Given the description of an element on the screen output the (x, y) to click on. 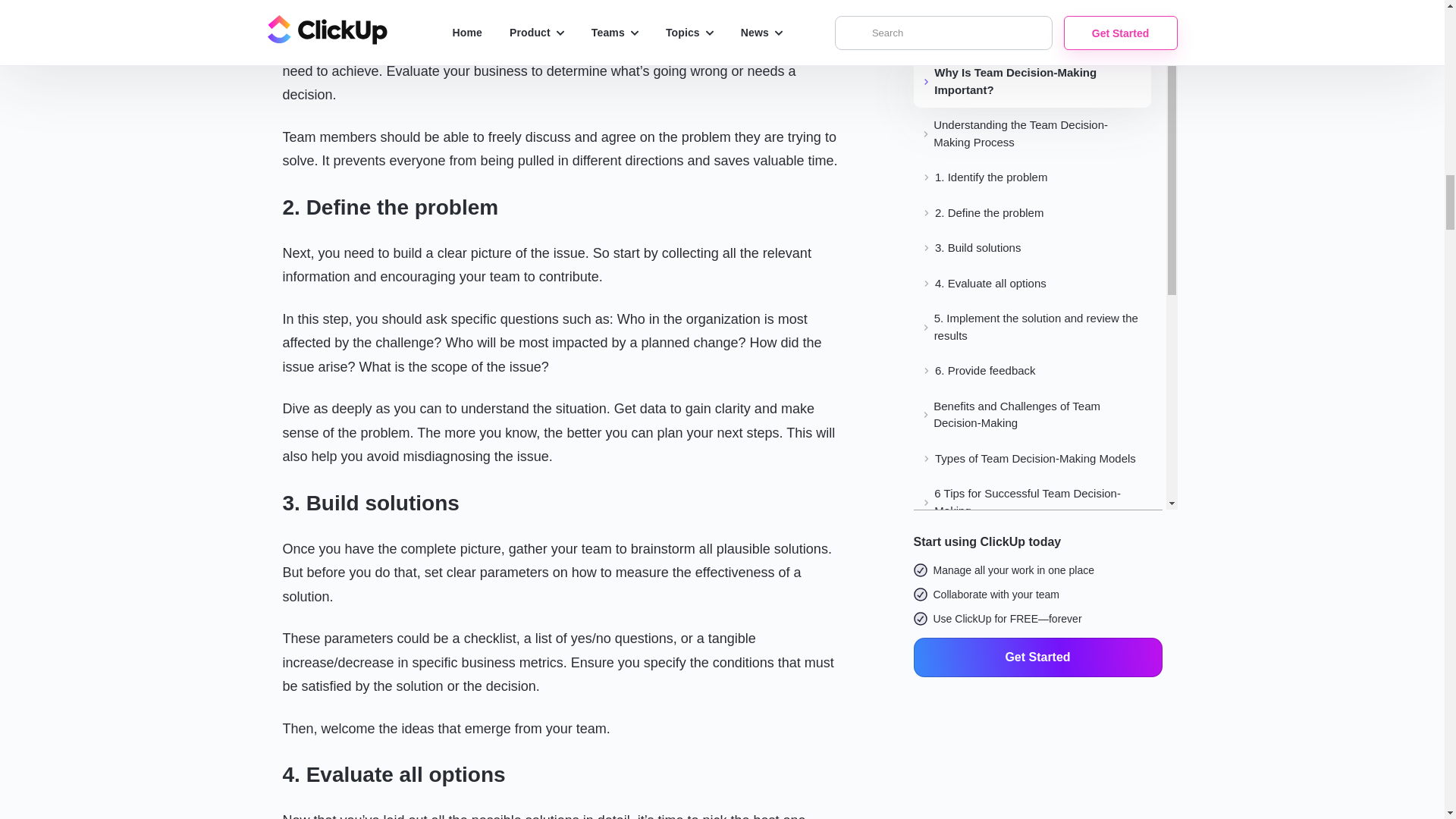
4. Evaluate all options (563, 775)
1. Identify the problem  (563, 8)
2. Define the problem  (563, 206)
3. Build solutions (563, 502)
